Given the description of an element on the screen output the (x, y) to click on. 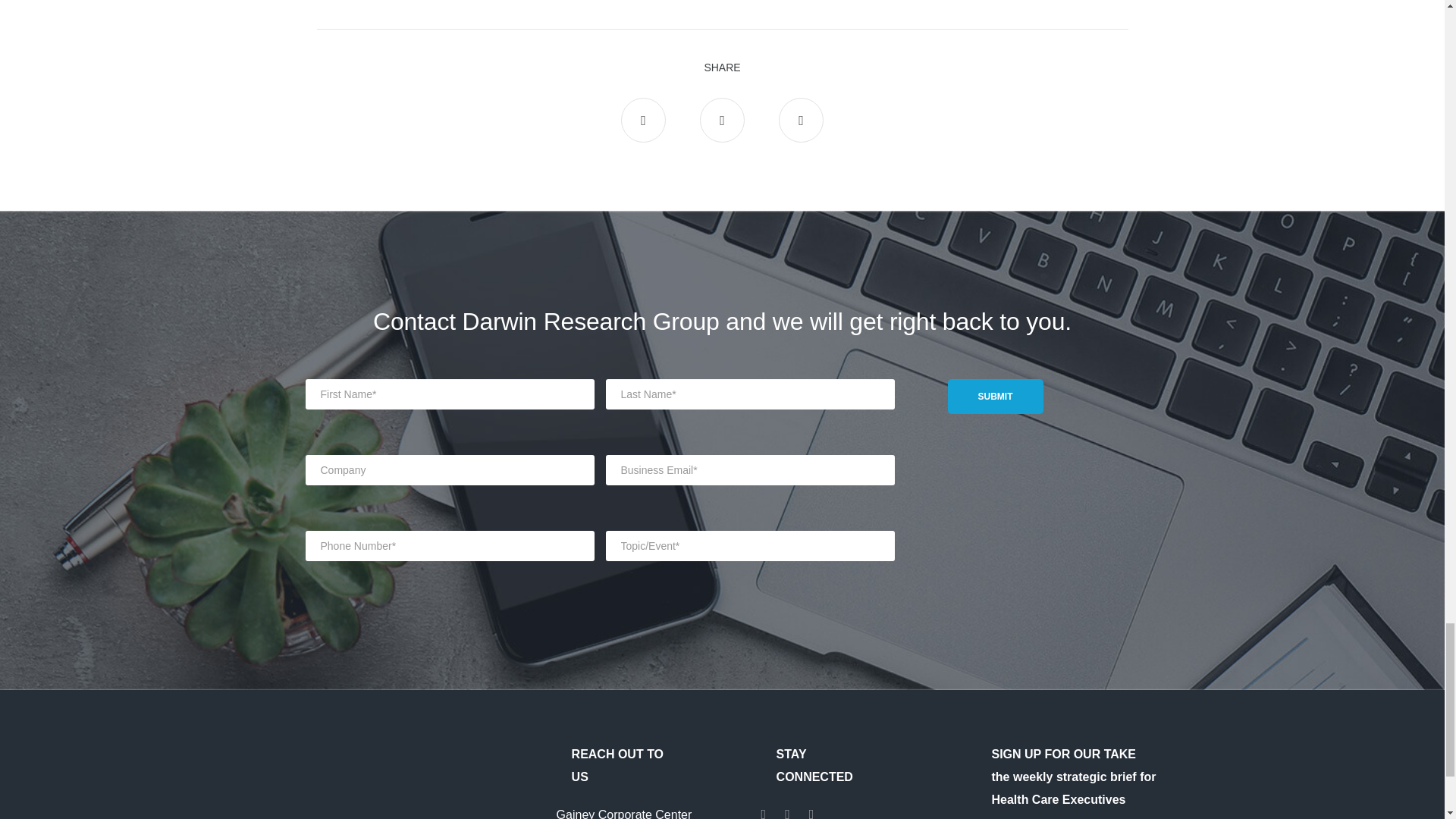
Submit (995, 396)
Submit (995, 396)
